Given the description of an element on the screen output the (x, y) to click on. 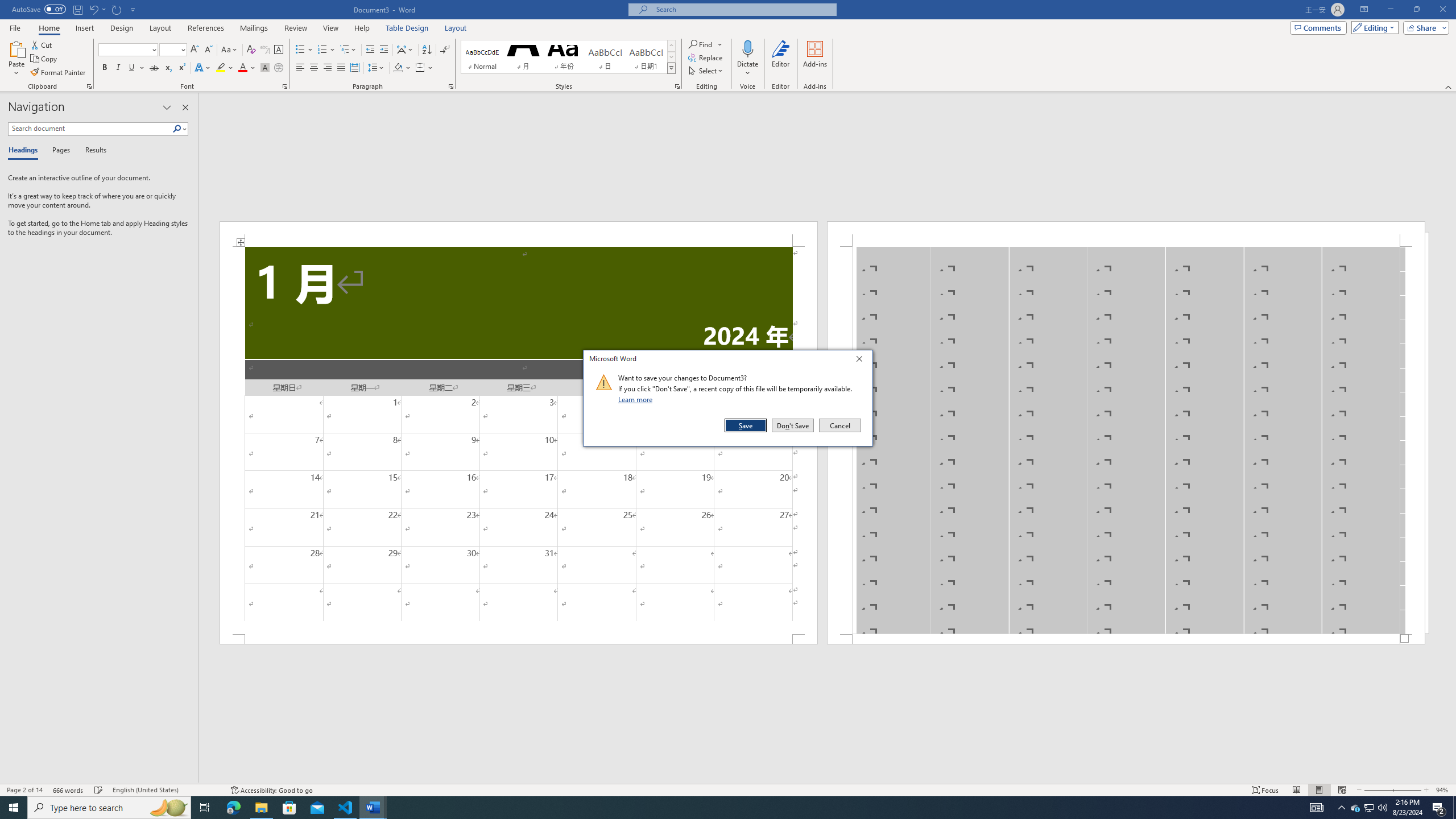
Borders (424, 67)
Learn more (636, 399)
Numbering (322, 49)
Find (705, 44)
AutomationID: 4105 (1316, 807)
Grow Font (193, 49)
Align Right (327, 67)
Paste (16, 48)
Shading (402, 67)
Share (1423, 27)
Ribbon Display Options (1364, 9)
Paragraph... (450, 85)
Text Highlight Color Yellow (220, 67)
